Given the description of an element on the screen output the (x, y) to click on. 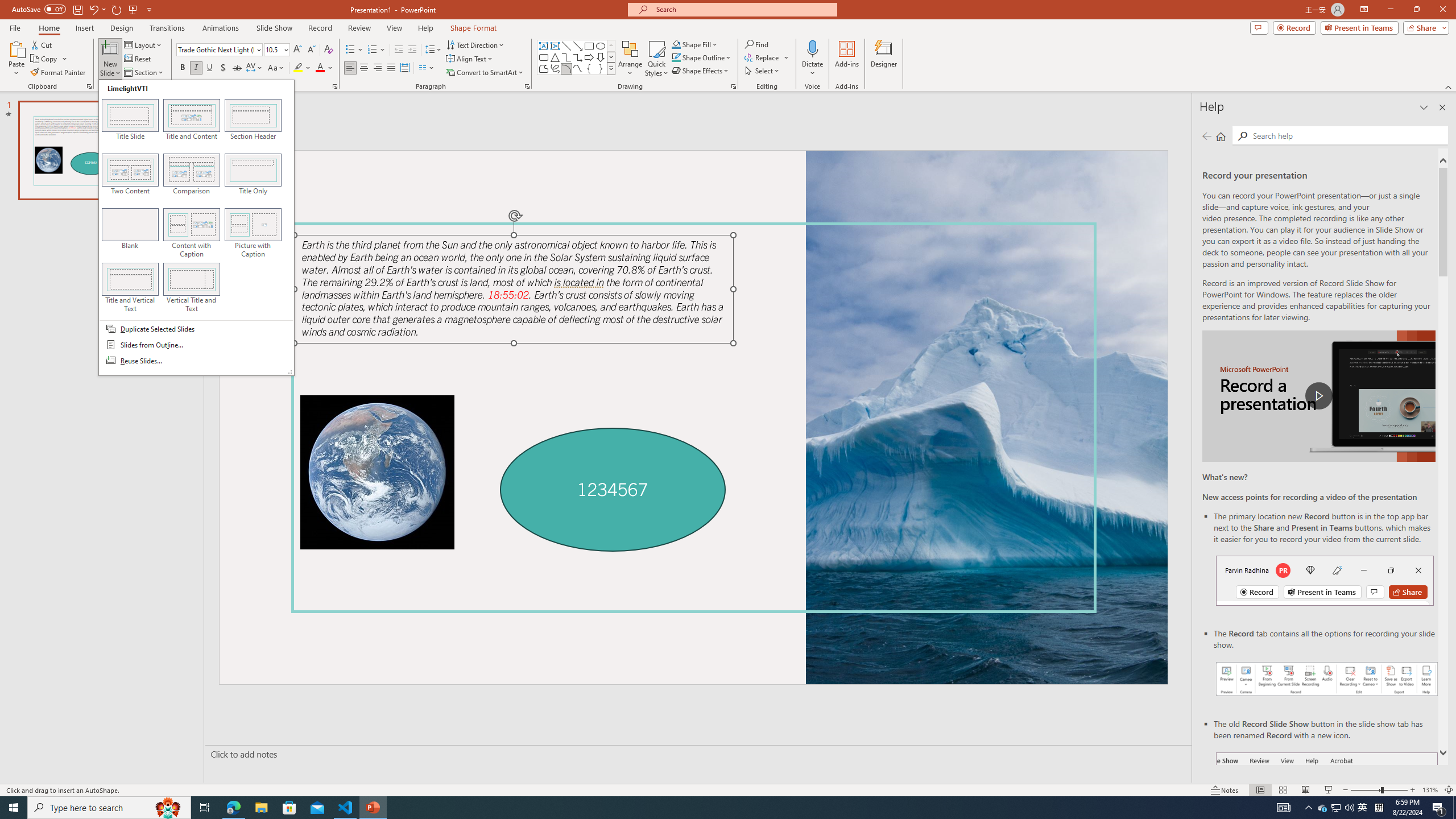
Record your presentations screenshot one (1326, 678)
